Given the description of an element on the screen output the (x, y) to click on. 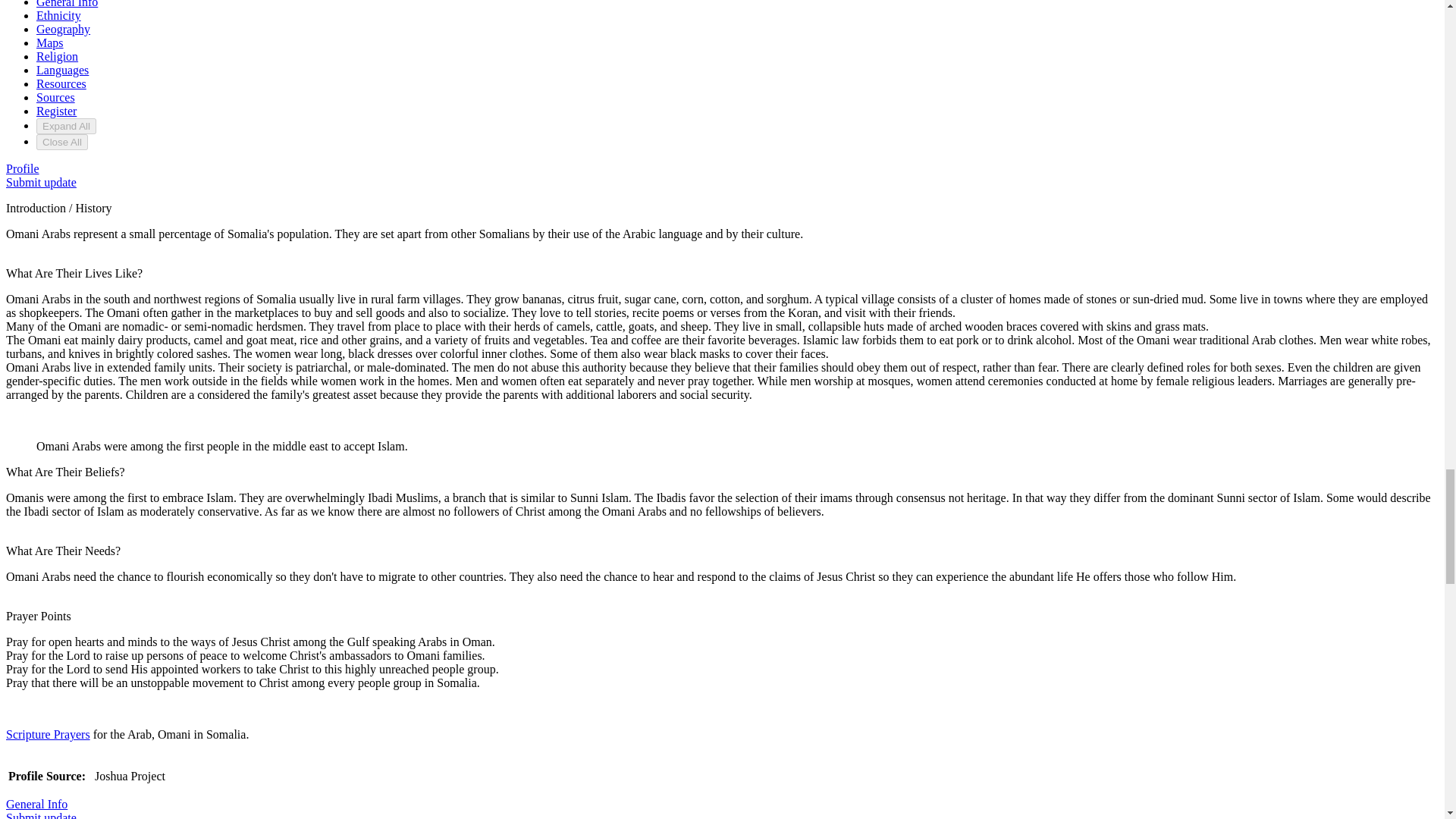
Close All (61, 141)
Expand All (66, 125)
